Given the description of an element on the screen output the (x, y) to click on. 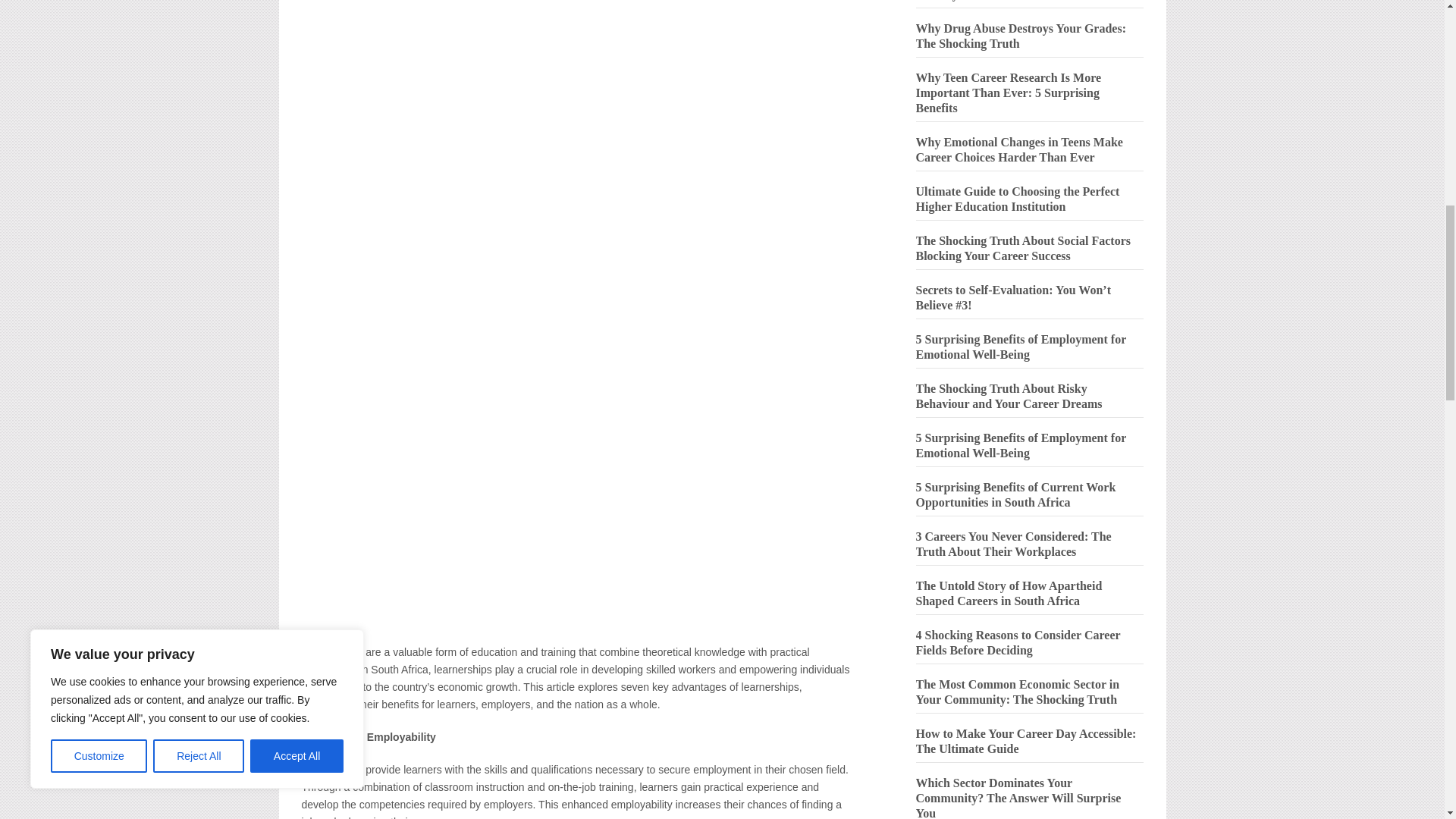
Why Drug Abuse Destroys Your Grades: The Shocking Truth (1020, 35)
Advertisement (578, 32)
5 Surprising Benefits of Employment for Emotional Well-Being (1020, 445)
